Given the description of an element on the screen output the (x, y) to click on. 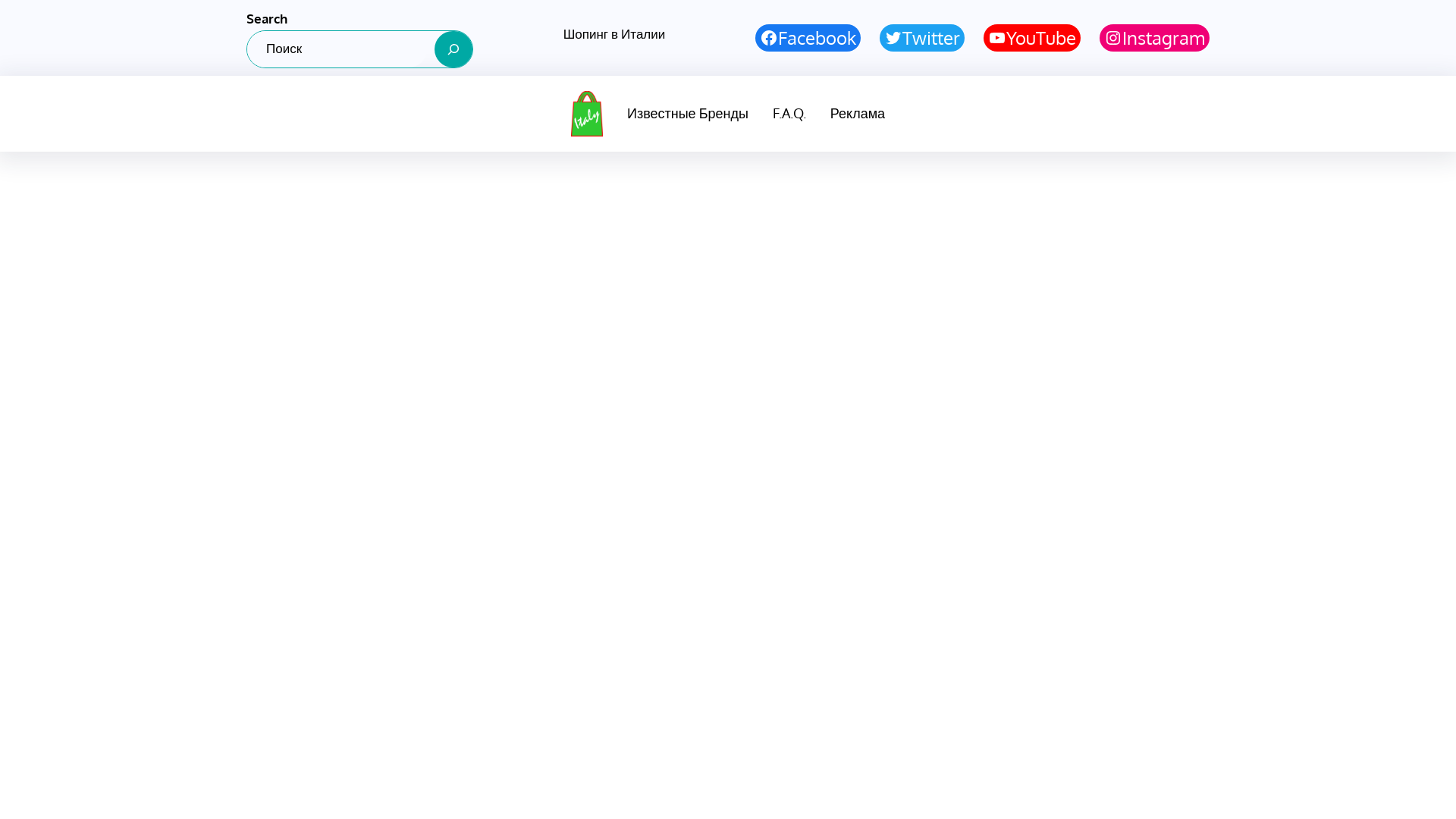
F.A.Q. Element type: text (789, 113)
YouTube Element type: text (1031, 37)
Facebook Element type: text (807, 37)
Twitter Element type: text (921, 37)
Instagram Element type: text (1154, 37)
